Given the description of an element on the screen output the (x, y) to click on. 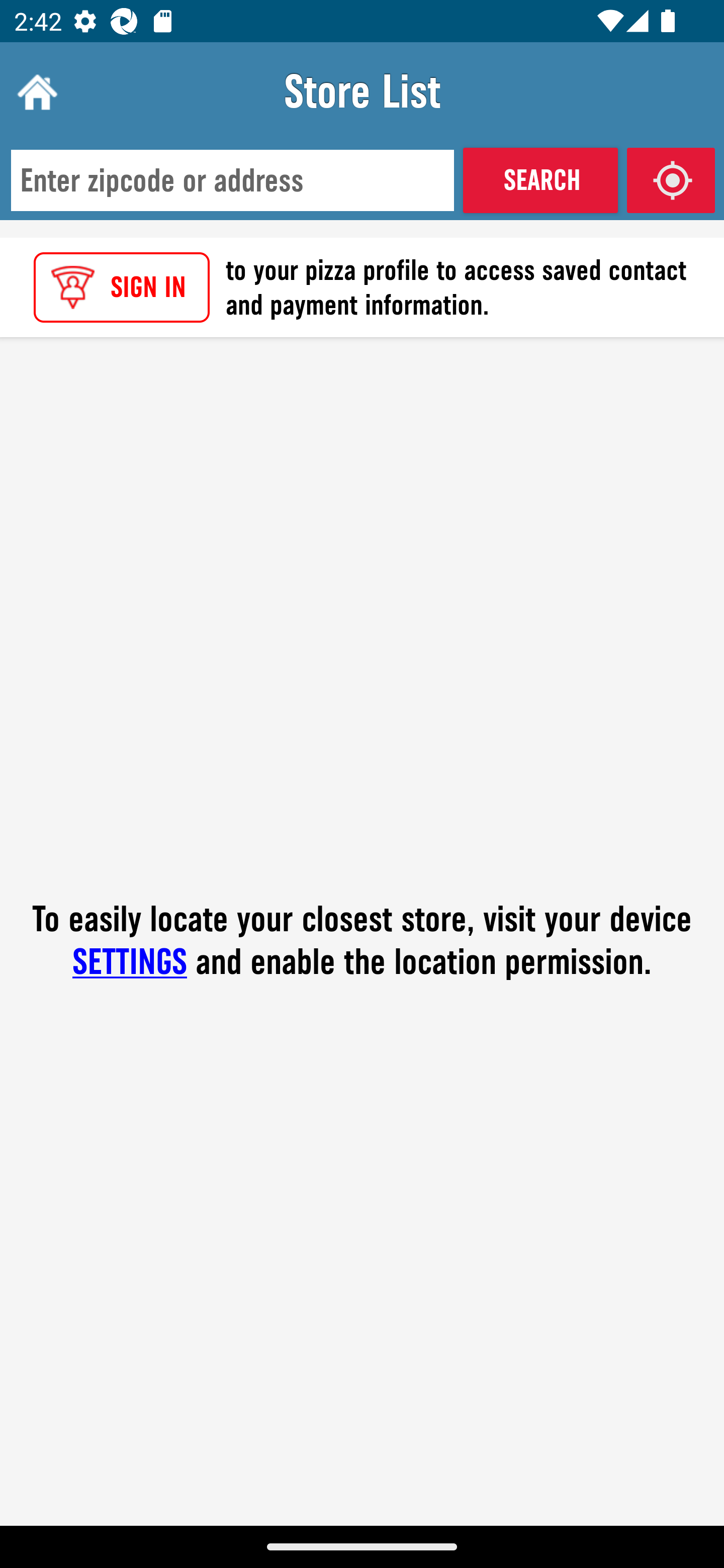
Home (35, 91)
SEARCH (540, 180)
Use Current Location (670, 180)
Enter zipcode or address (231, 180)
SIGN IN (121, 287)
